Given the description of an element on the screen output the (x, y) to click on. 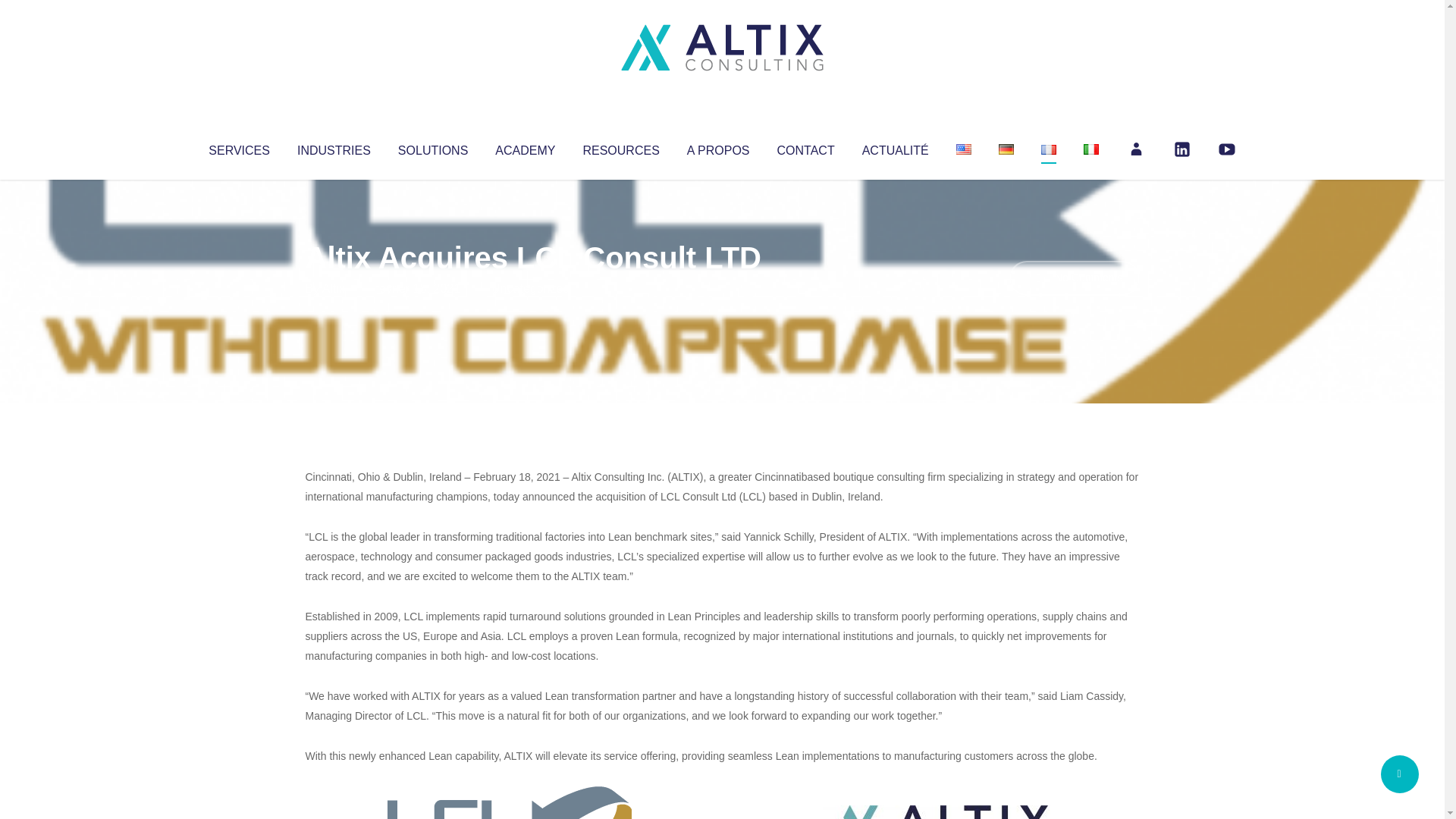
Altix (333, 287)
INDUSTRIES (334, 146)
ACADEMY (524, 146)
RESOURCES (620, 146)
No Comments (1073, 278)
A PROPOS (718, 146)
SOLUTIONS (432, 146)
SERVICES (238, 146)
Uncategorized (530, 287)
Articles par Altix (333, 287)
